Given the description of an element on the screen output the (x, y) to click on. 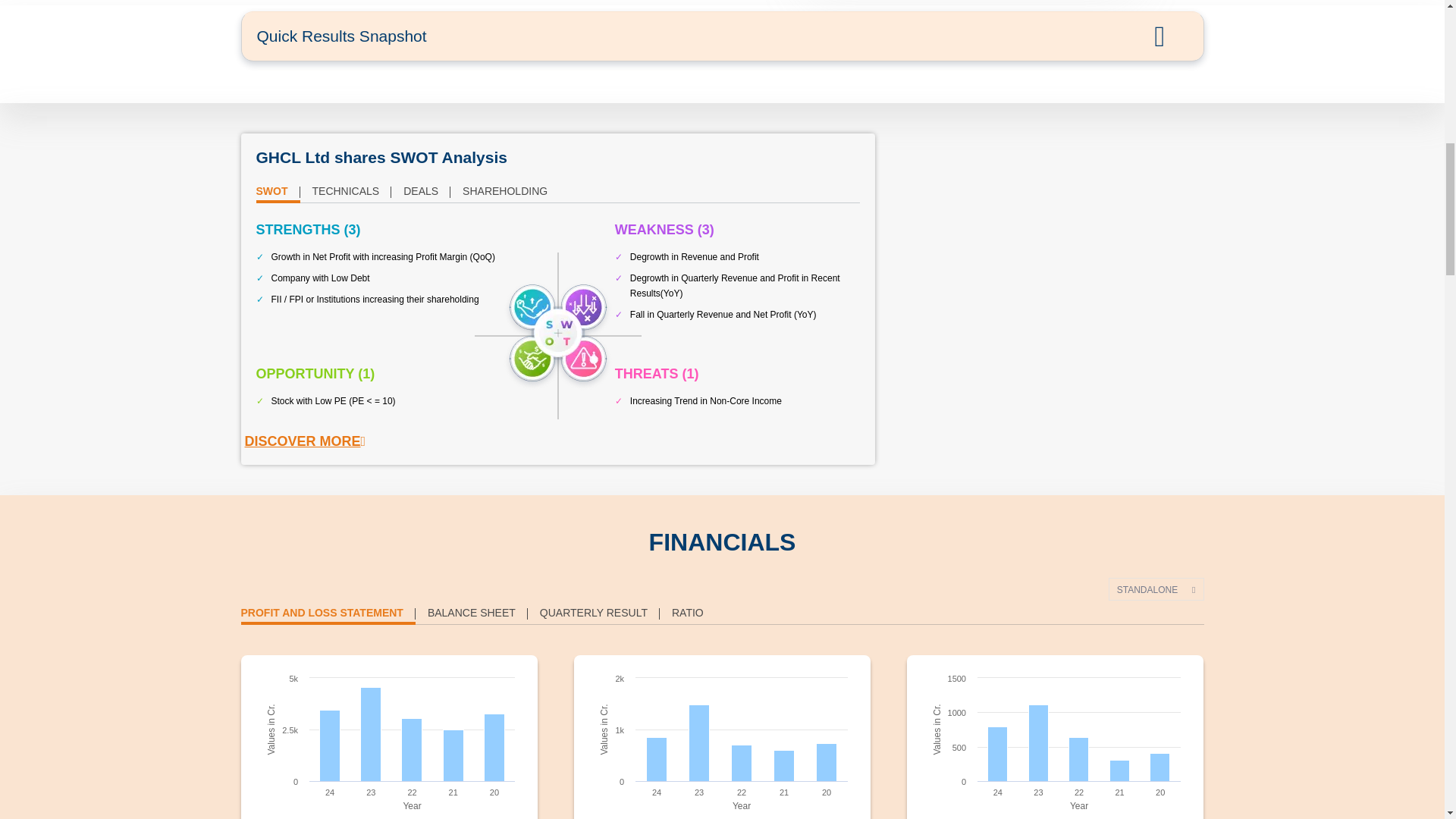
Standalone (1156, 589)
